Given the description of an element on the screen output the (x, y) to click on. 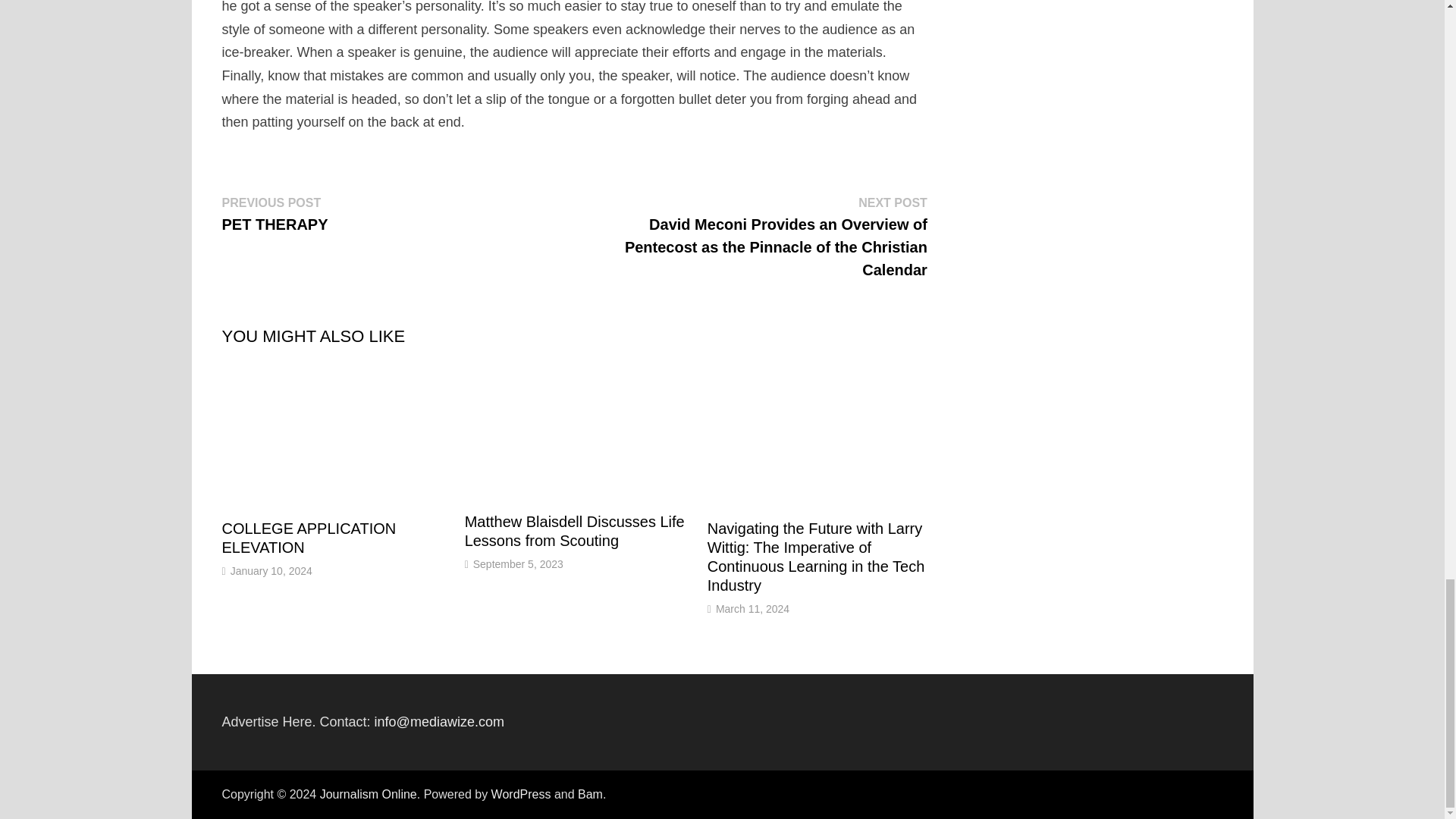
March 11, 2024 (752, 608)
COLLEGE APPLICATION ELEVATION (308, 538)
Matthew Blaisdell Discusses Life Lessons from Scouting (574, 530)
January 10, 2024 (271, 571)
Matthew Blaisdell Discusses Life Lessons from Scouting (574, 530)
COLLEGE APPLICATION ELEVATION (308, 538)
